Given the description of an element on the screen output the (x, y) to click on. 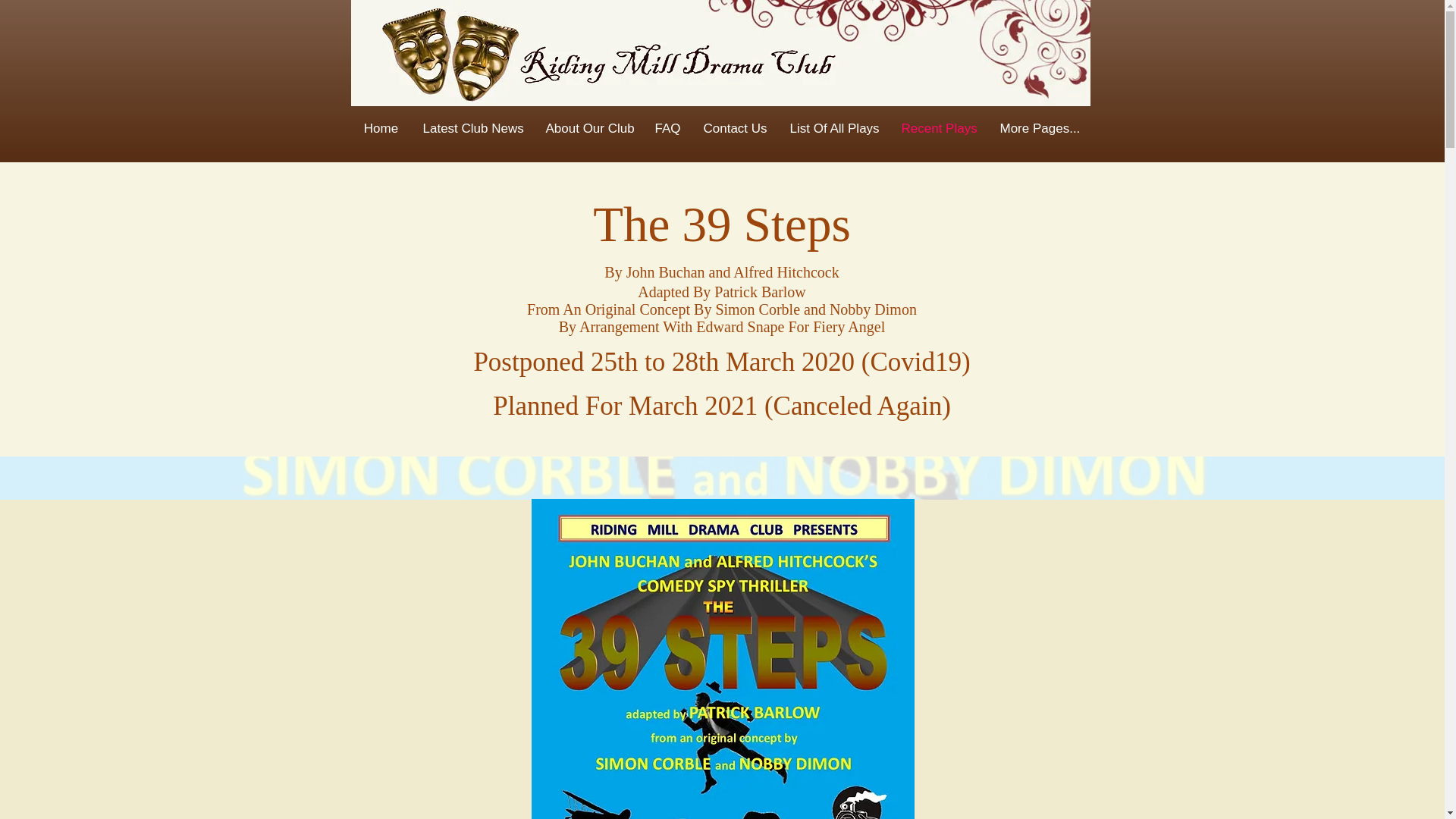
Contact Us (734, 128)
FAQ (667, 128)
List Of All Plays (833, 128)
Recent Plays (938, 128)
About Our Club (588, 128)
Latest Club News (472, 128)
Home (380, 128)
